Given the description of an element on the screen output the (x, y) to click on. 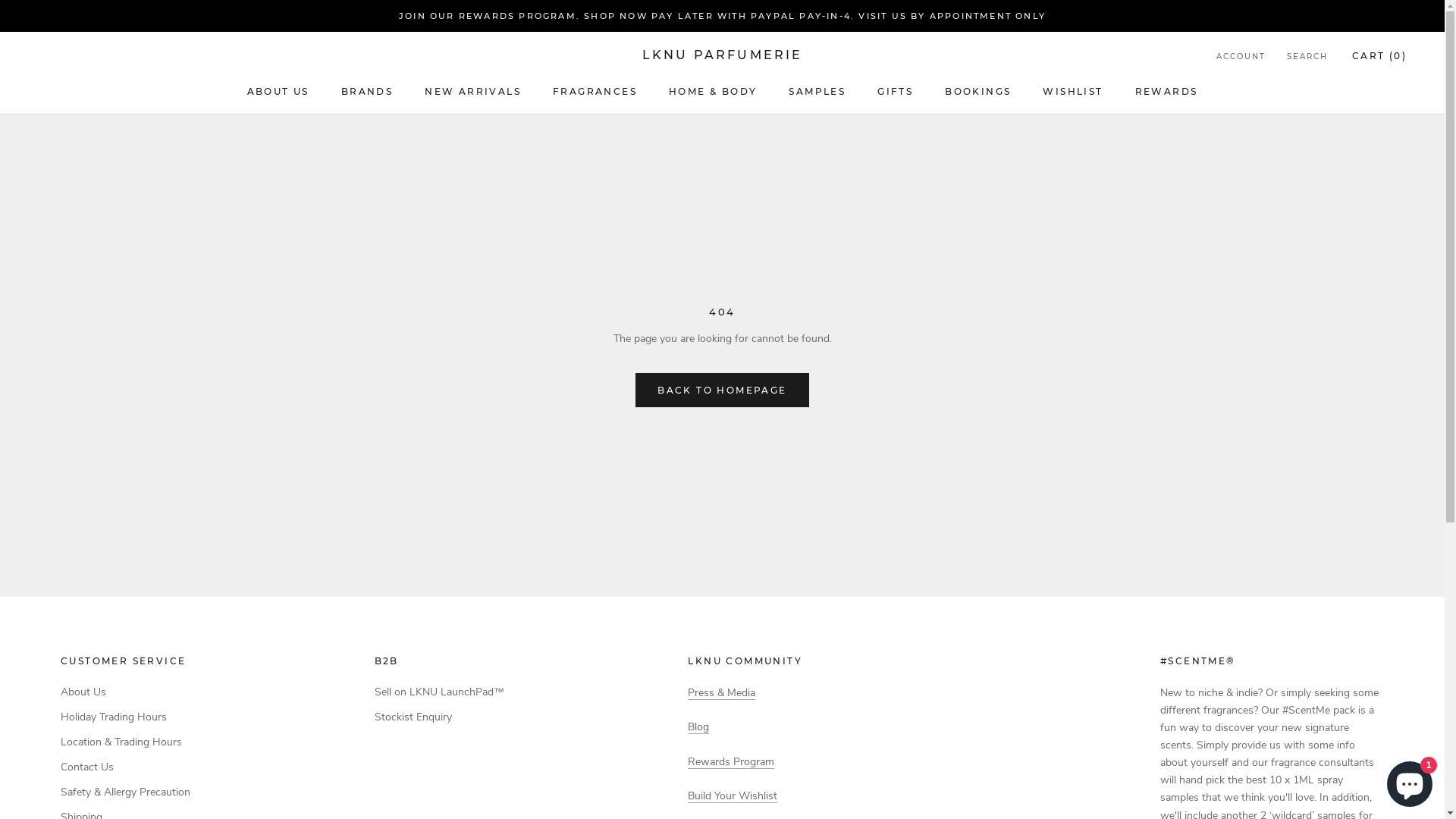
Press & Media Element type: text (721, 692)
Rewards Program Element type: text (730, 761)
GIFTS Element type: text (895, 91)
ACCOUNT Element type: text (1240, 56)
SEARCH Element type: text (1306, 56)
REWARDS
REWARDS Element type: text (1166, 91)
About Us Element type: text (125, 691)
Safety & Allergy Precaution Element type: text (125, 792)
Location & Trading Hours Element type: text (125, 741)
Build Your Wishlist Element type: text (732, 795)
Contact Us Element type: text (125, 767)
BACK TO HOMEPAGE Element type: text (721, 390)
SAMPLES
SAMPLES Element type: text (816, 91)
ABOUT US Element type: text (278, 91)
Shopify online store chat Element type: hover (1409, 780)
NEW ARRIVALS
NEW ARRIVALS Element type: text (472, 91)
BRANDS
BRANDS Element type: text (366, 91)
LKNU PARFUMERIE Element type: text (721, 55)
Stockist Enquiry Element type: text (439, 716)
CART (0) Element type: text (1379, 55)
HOME & BODY Element type: text (712, 91)
Holiday Trading Hours Element type: text (125, 716)
Blog Element type: text (698, 726)
FRAGRANCES Element type: text (594, 91)
WISHLIST
WISHLIST Element type: text (1072, 91)
BOOKINGS Element type: text (977, 91)
